Given the description of an element on the screen output the (x, y) to click on. 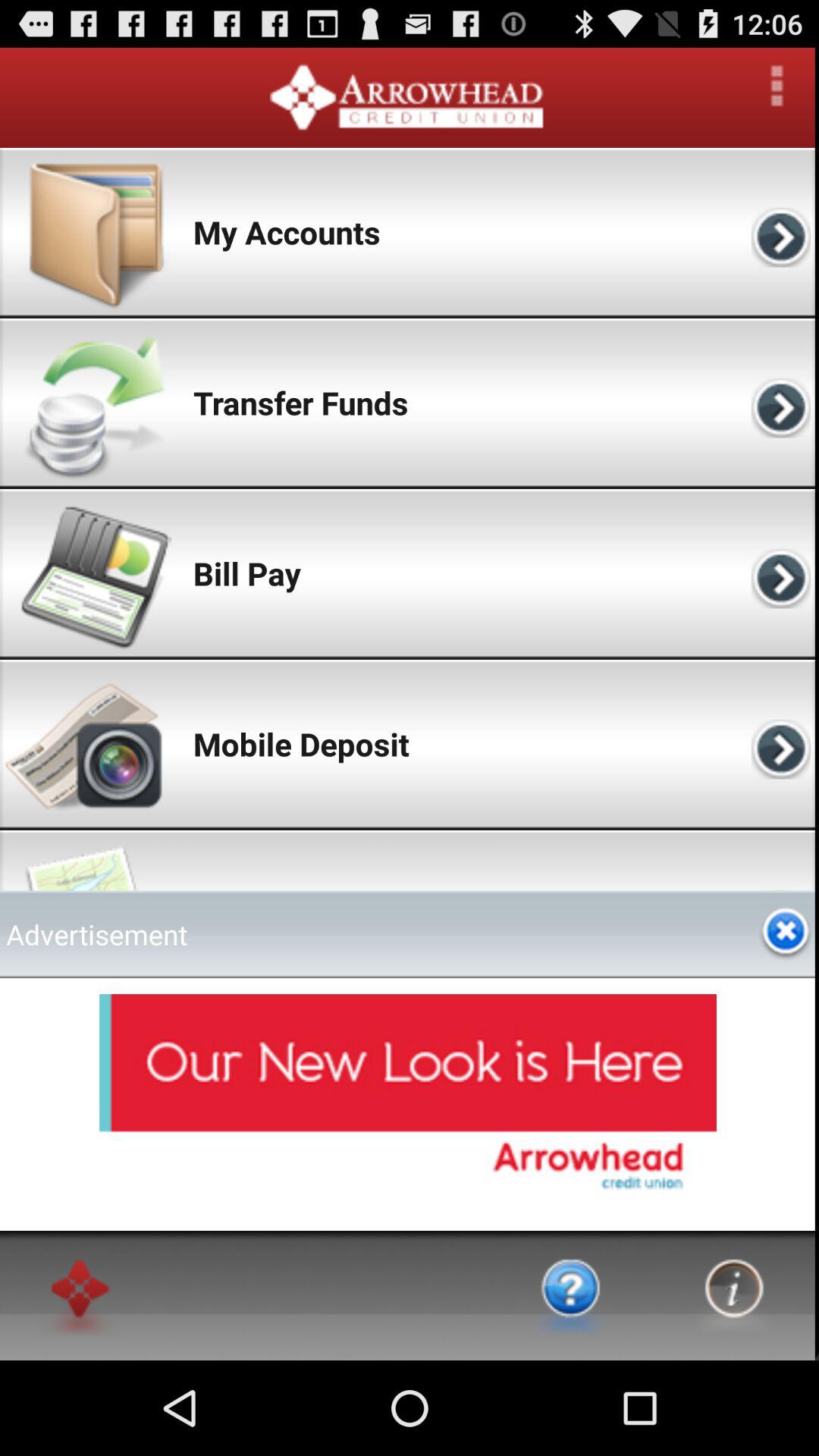
tap to get help (571, 1295)
